Given the description of an element on the screen output the (x, y) to click on. 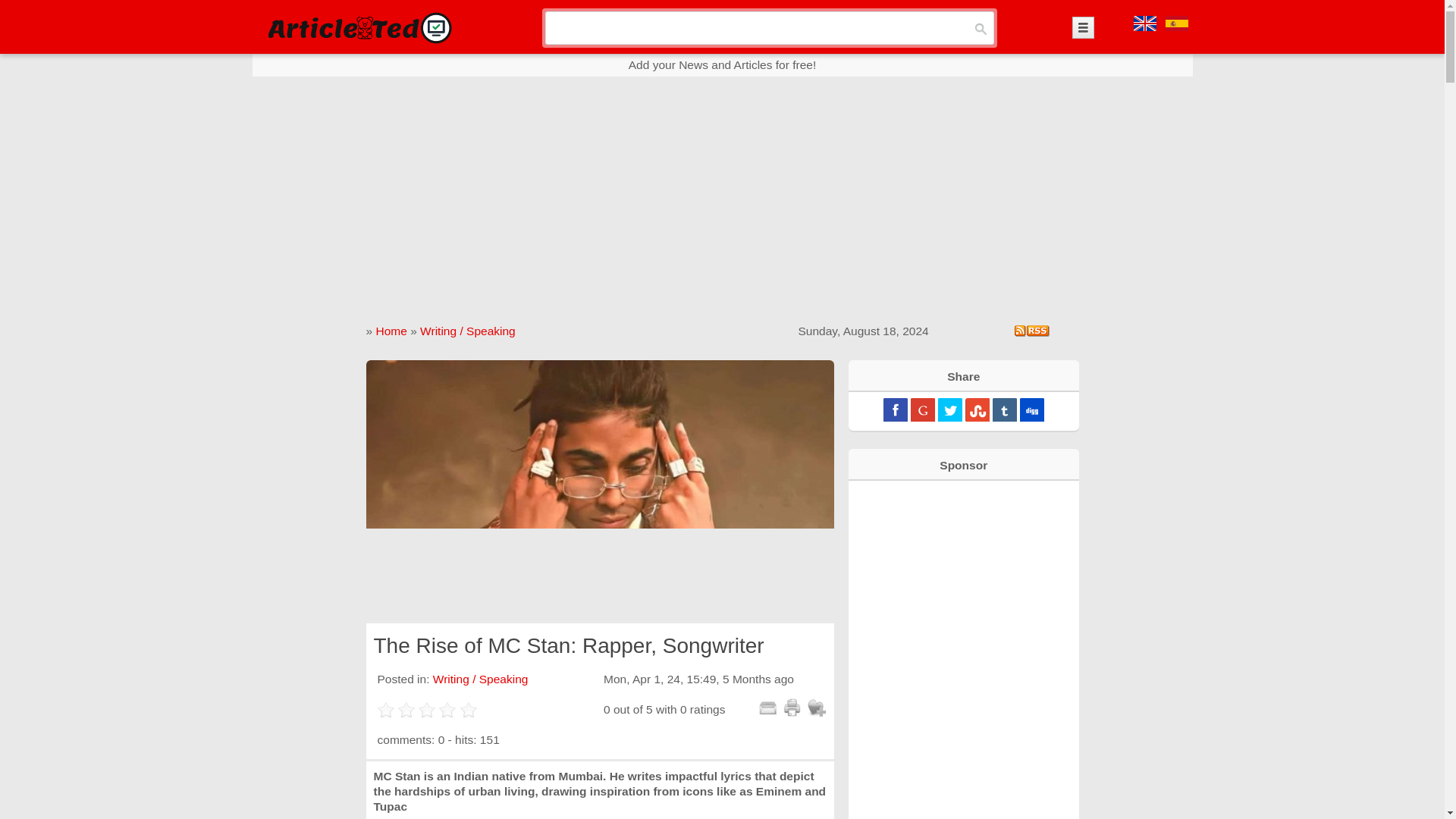
ArticleTed -  News and Articles (357, 27)
The Rise of MC Stan: Rapper, Songwriter (598, 491)
Home (390, 330)
